Given the description of an element on the screen output the (x, y) to click on. 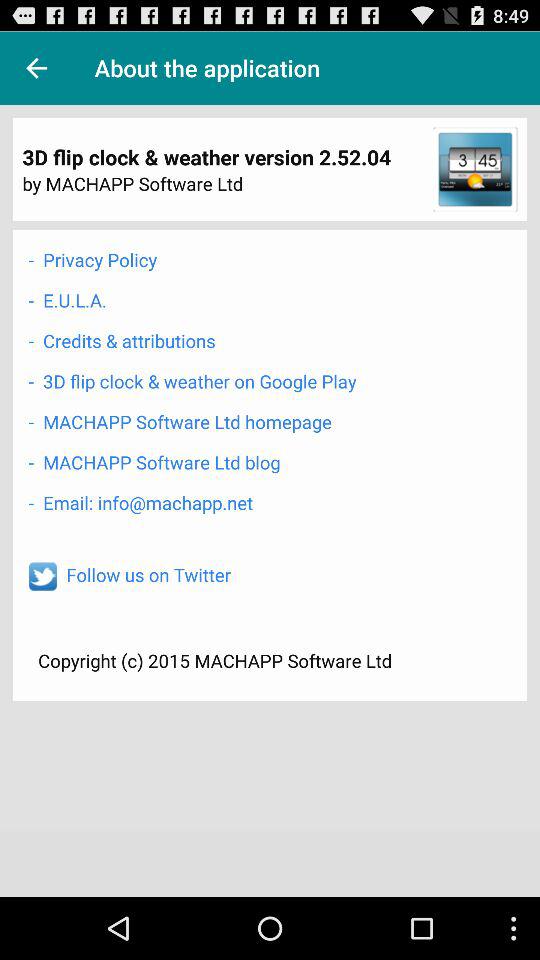
turn on the email info machapp (140, 502)
